Given the description of an element on the screen output the (x, y) to click on. 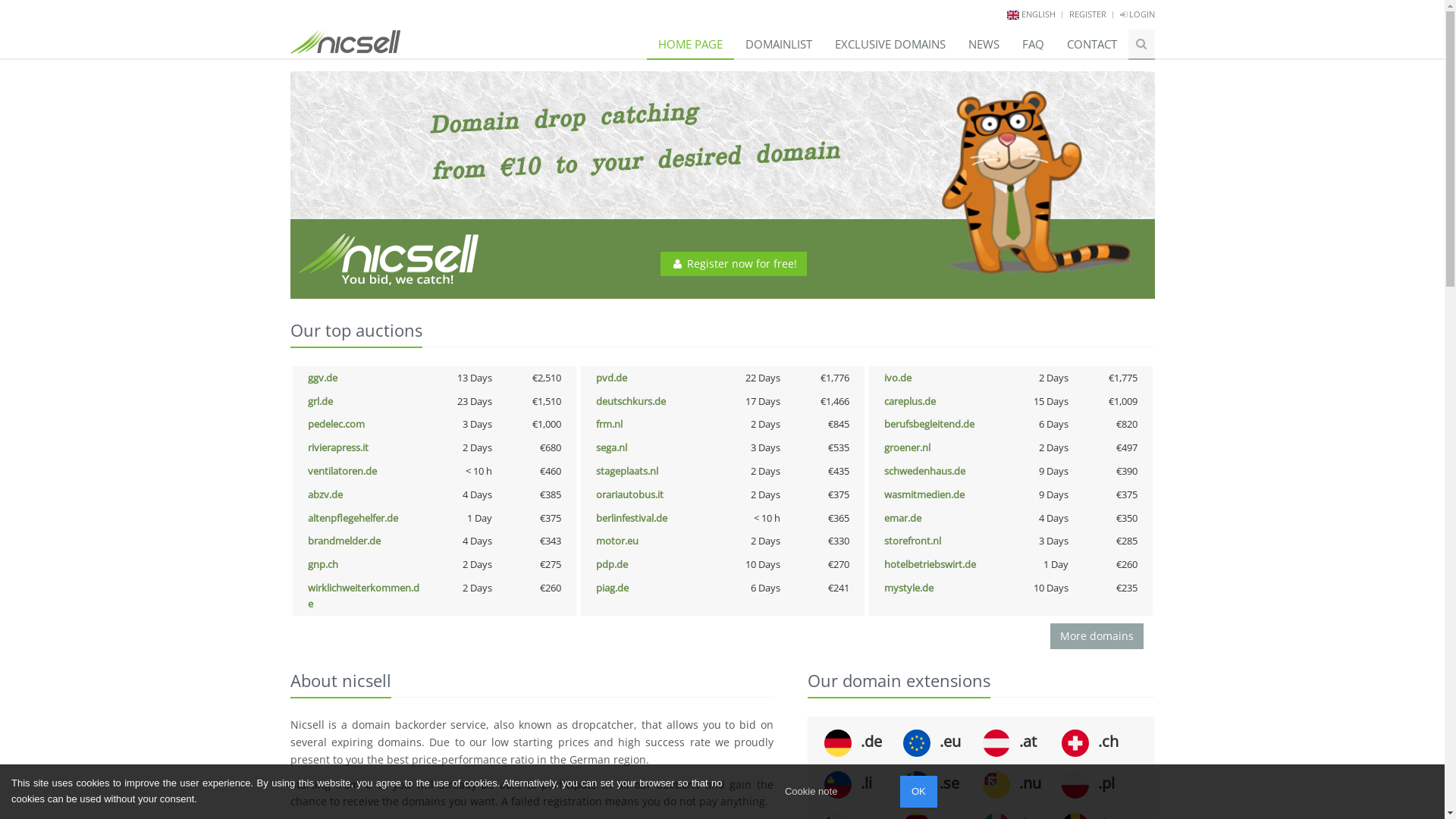
EXCLUSIVE DOMAINS Element type: text (890, 44)
wirklichweiterkommen.de Element type: text (363, 595)
deutschkurs.de Element type: text (630, 400)
storefront.nl Element type: text (912, 540)
abzv.de Element type: text (324, 494)
wasmitmedien.de Element type: text (924, 494)
CONTACT Element type: text (1091, 44)
sega.nl Element type: text (611, 447)
gnp.ch Element type: text (322, 564)
nicsell Banner Element type: hover (721, 184)
groener.nl Element type: text (907, 447)
hotelbetriebswirt.de Element type: text (929, 564)
pdp.de Element type: text (611, 564)
mystyle.de Element type: text (908, 587)
rivierapress.it Element type: text (337, 447)
NEWS Element type: text (983, 44)
frm.nl Element type: text (609, 423)
brandmelder.de Element type: text (343, 540)
schwedenhaus.de Element type: text (924, 470)
berufsbegleitend.de Element type: text (929, 423)
Register now for free! Element type: text (733, 263)
DOMAINLIST Element type: text (778, 44)
ENGLISH Element type: text (1037, 13)
berlinfestival.de Element type: text (631, 517)
Home Element type: hover (344, 36)
REGISTER Element type: text (1087, 13)
careplus.de Element type: text (909, 400)
LOGIN Element type: text (1136, 13)
piag.de Element type: text (612, 587)
FAQ Element type: text (1032, 44)
ggv.de Element type: text (322, 377)
Cookie note Element type: text (810, 792)
stageplaats.nl Element type: text (627, 470)
More domains Element type: text (1095, 636)
ventilatoren.de Element type: text (341, 470)
grl.de Element type: text (319, 400)
pvd.de Element type: text (611, 377)
motor.eu Element type: text (617, 540)
pedelec.com Element type: text (335, 423)
ivo.de Element type: text (897, 377)
altenpflegehelfer.de Element type: text (352, 517)
HOME PAGE Element type: text (689, 44)
orariautobus.it Element type: text (629, 494)
emar.de Element type: text (902, 517)
